Given the description of an element on the screen output the (x, y) to click on. 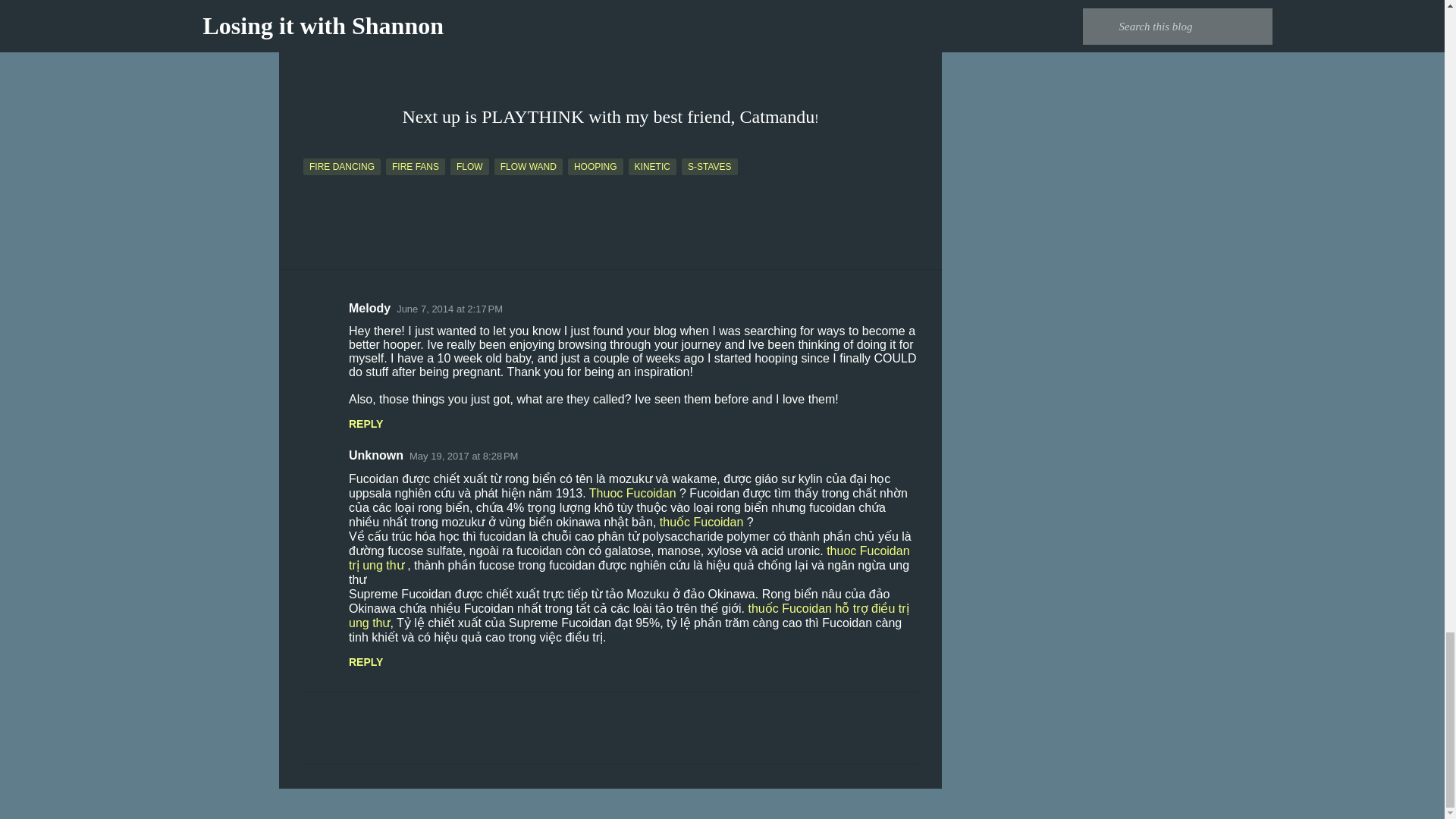
FIRE FANS (415, 166)
REPLY (365, 662)
FLOW WAND (528, 166)
HOOPING (595, 166)
REPLY (365, 423)
KINETIC (652, 166)
FLOW (469, 166)
Thuoc Fucoidan (633, 492)
Melody (369, 308)
FIRE DANCING (341, 166)
S-STAVES (709, 166)
Unknown (376, 454)
